Given the description of an element on the screen output the (x, y) to click on. 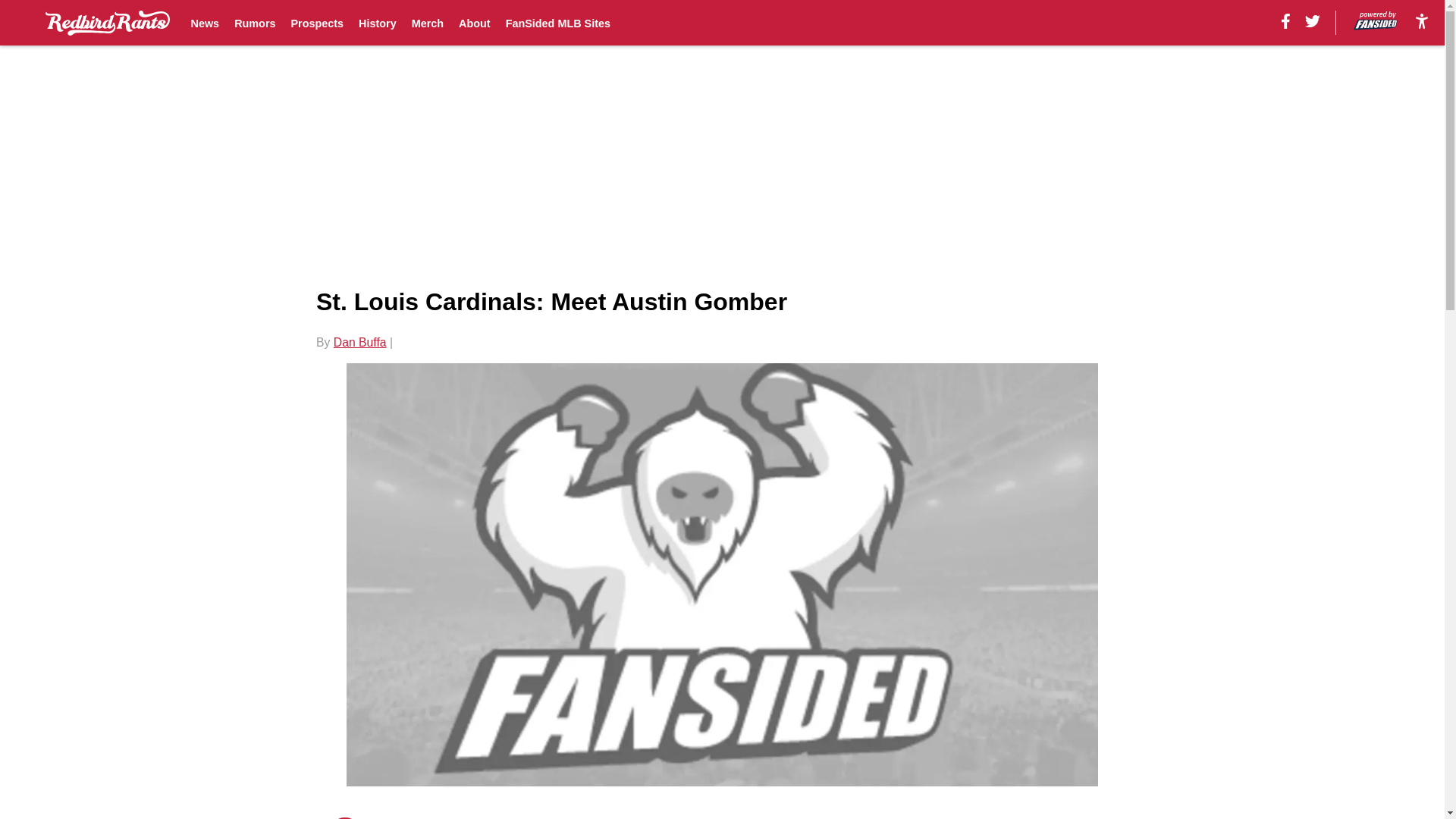
Dan Buffa (360, 341)
News (204, 23)
FanSided MLB Sites (557, 23)
Merch (428, 23)
About (474, 23)
Rumors (254, 23)
Prospects (317, 23)
History (377, 23)
